Given the description of an element on the screen output the (x, y) to click on. 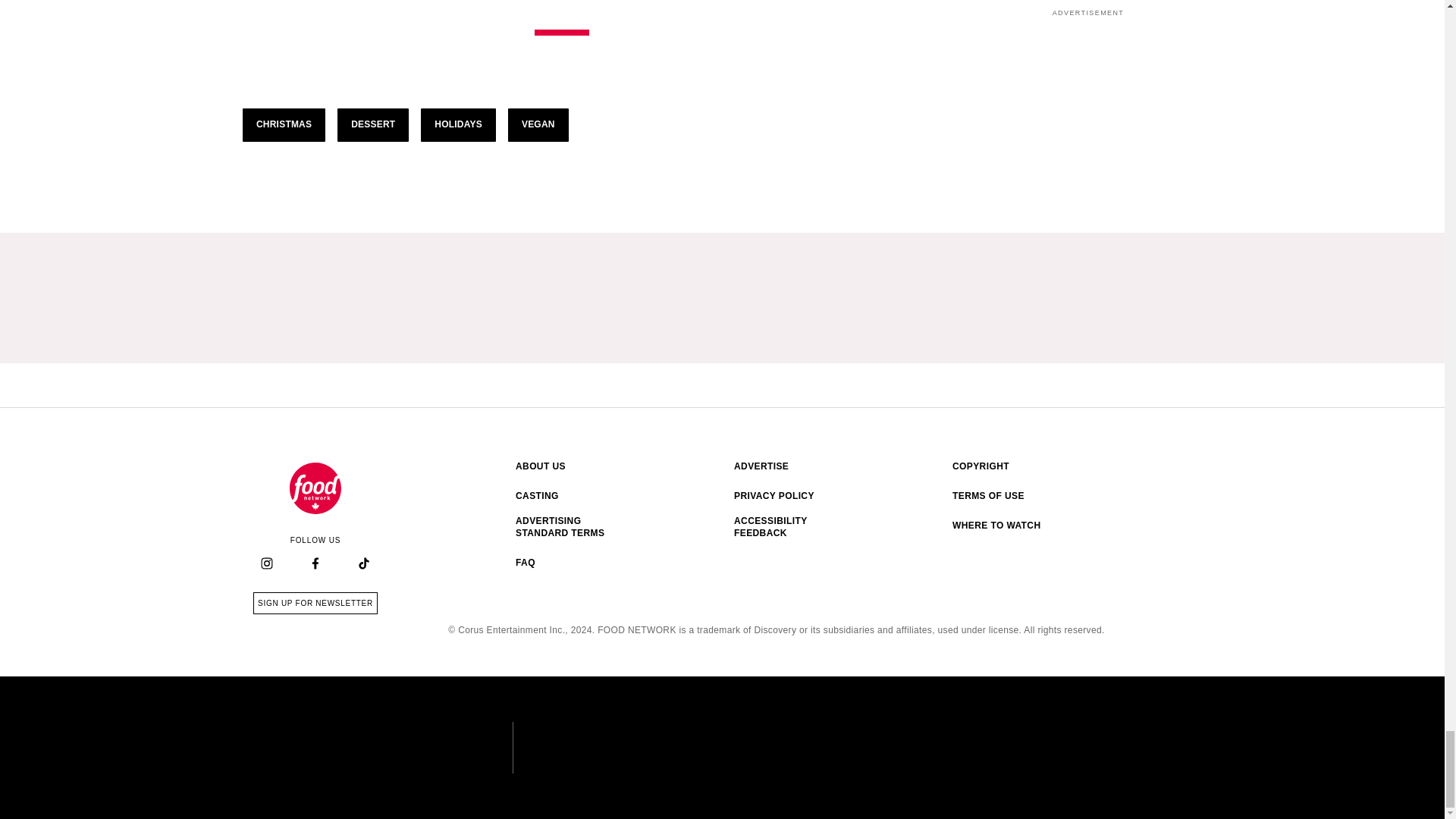
Food Network Canada home (314, 488)
Instagram (266, 563)
Follow Food Network Canada on Facebook (315, 563)
Follow Food Network Canada on Instagram (267, 563)
